Given the description of an element on the screen output the (x, y) to click on. 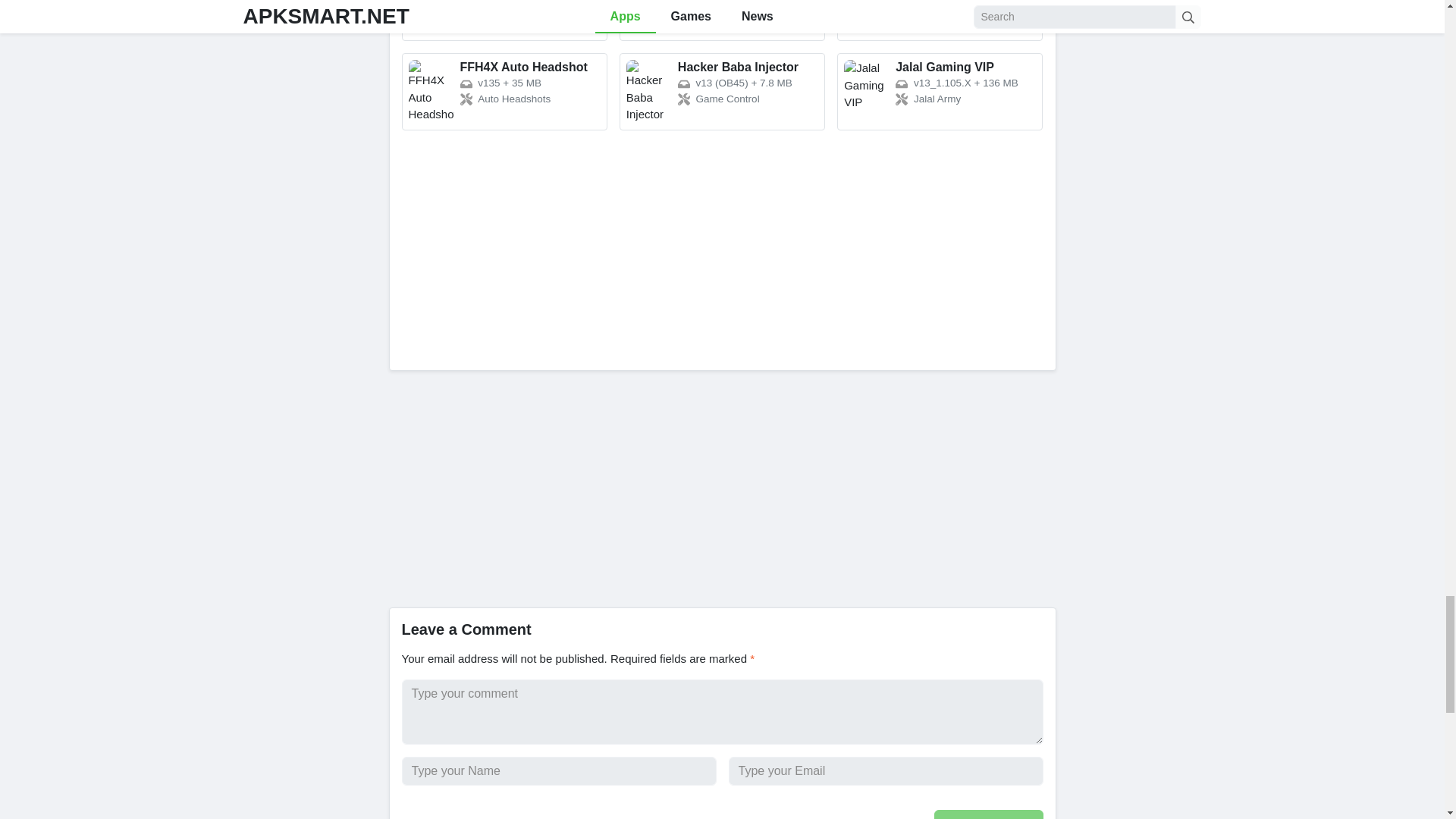
FFH4X Auto Headshot (504, 91)
Rasya Gaming Mod (504, 20)
Regedit VIP (722, 20)
Jalal Gaming VIP  (939, 91)
Hacker Baba Injector (722, 91)
Free Fire Vip Injector (939, 20)
